Given the description of an element on the screen output the (x, y) to click on. 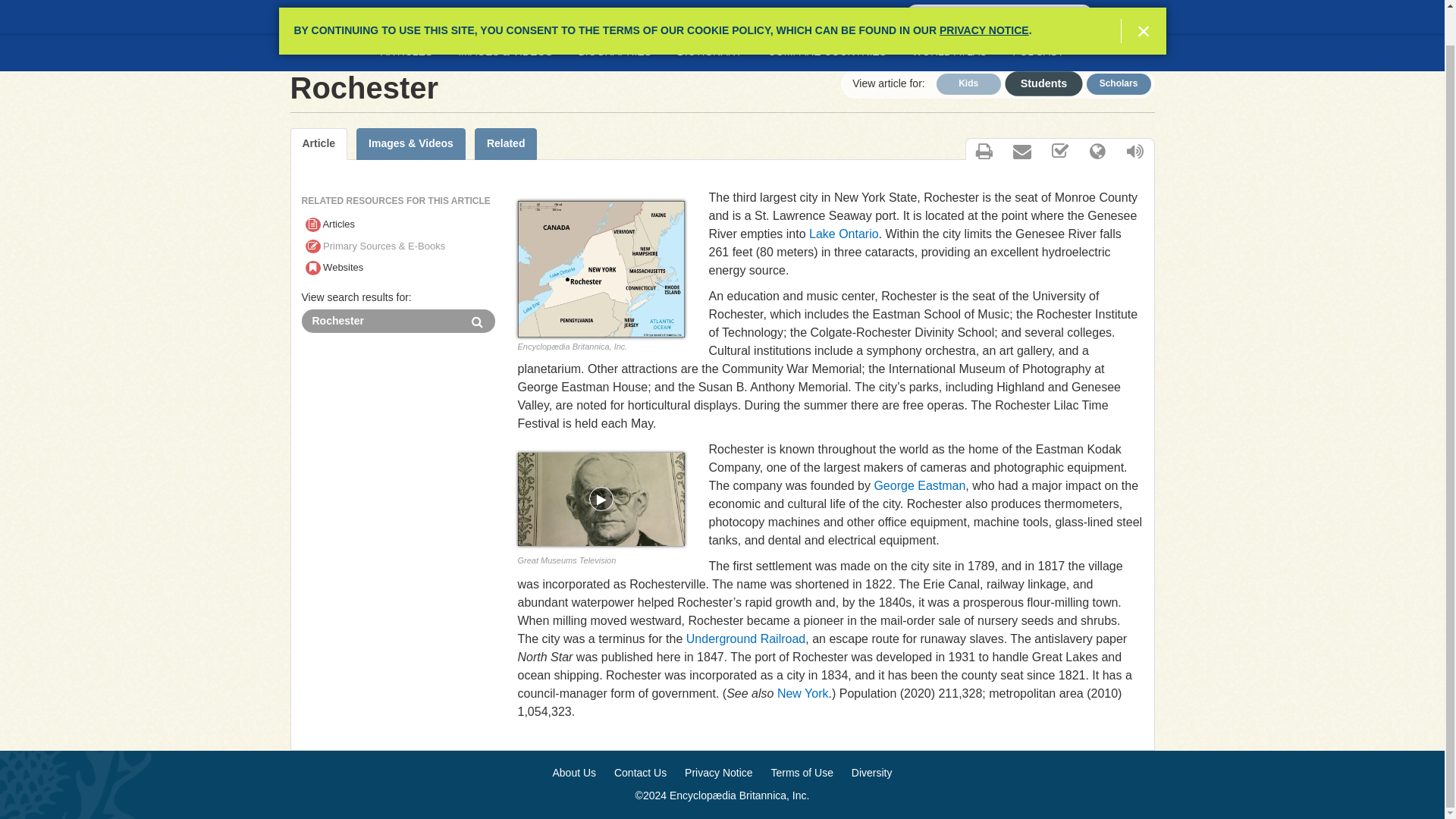
Rochester (381, 320)
George Eastman House (600, 499)
Rochester (381, 320)
